Given the description of an element on the screen output the (x, y) to click on. 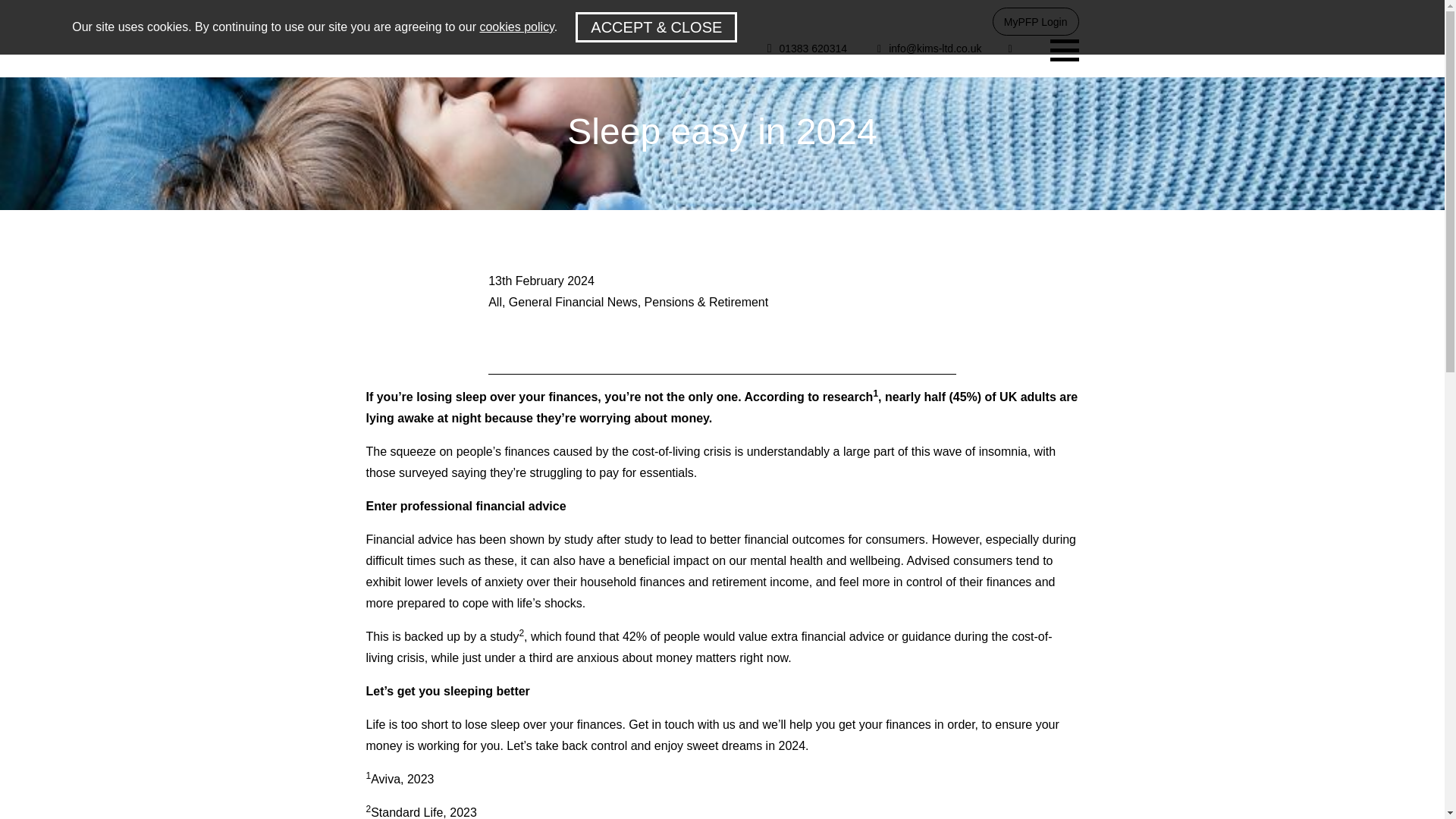
MyPFP Login (1035, 21)
cookies policy (516, 26)
01383 620314 (803, 48)
Menu (1063, 48)
